Given the description of an element on the screen output the (x, y) to click on. 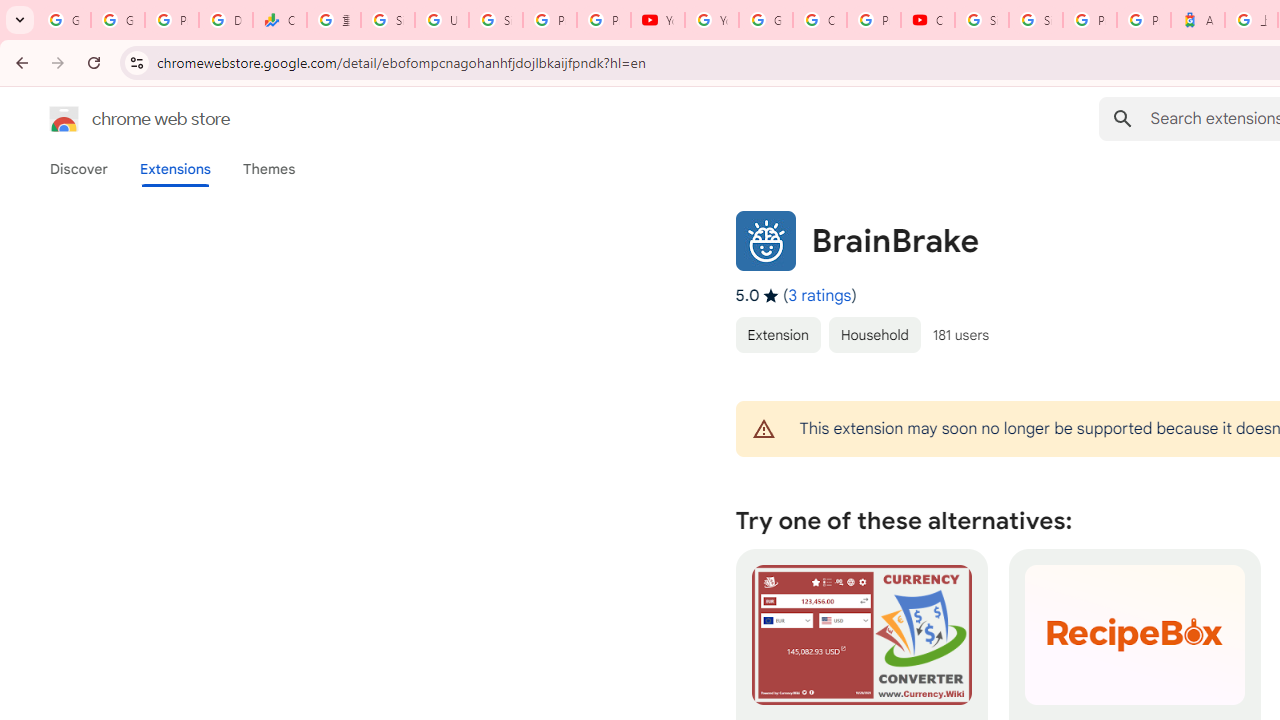
Privacy Checkup (604, 20)
Chrome Web Store logo chrome web store (118, 118)
YouTube (711, 20)
YouTube (657, 20)
Sign in - Google Accounts (387, 20)
Create your Google Account (819, 20)
Extension (777, 334)
Discover (79, 169)
Atour Hotel - Google hotels (1197, 20)
